Given the description of an element on the screen output the (x, y) to click on. 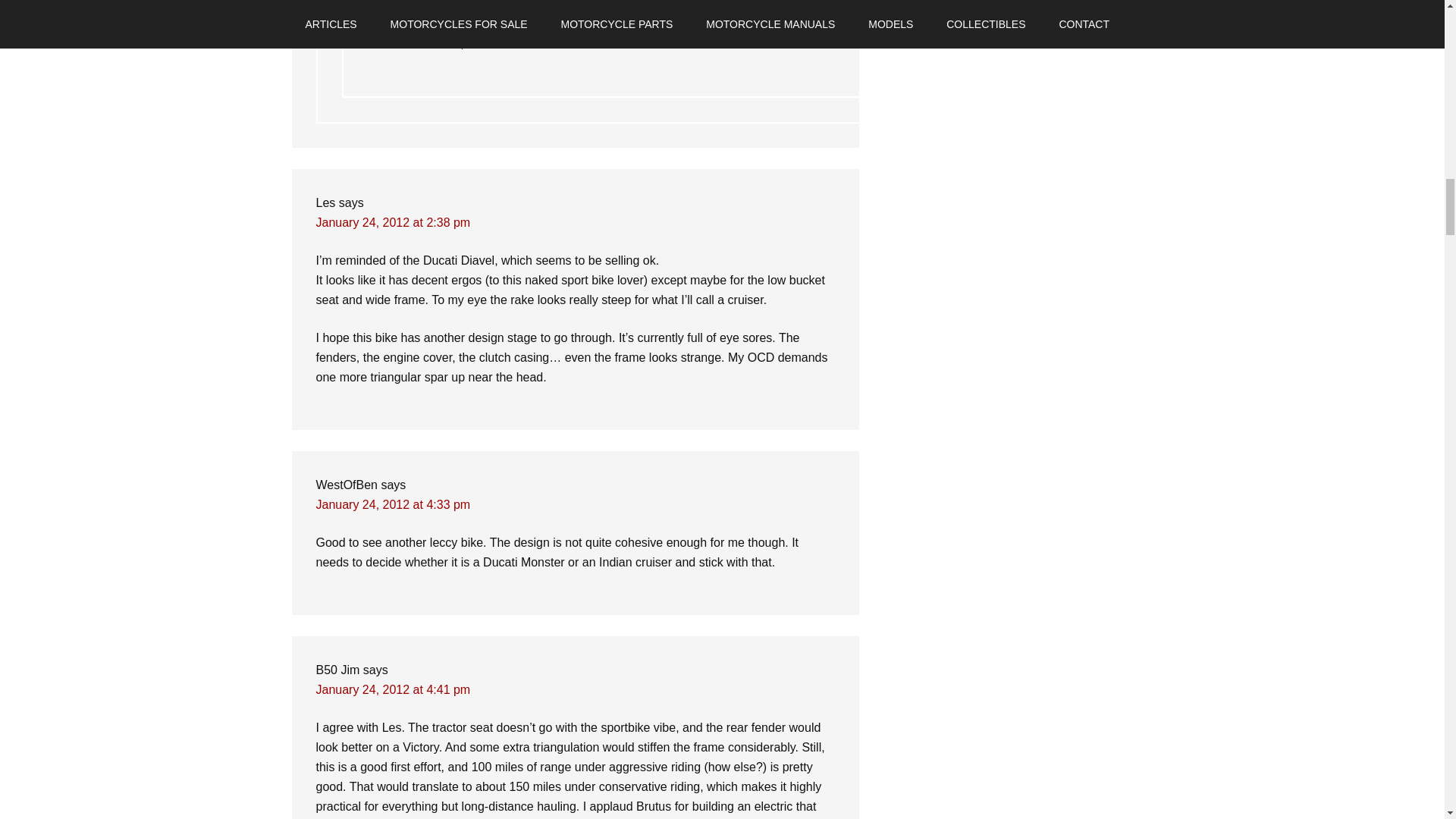
January 24, 2012 at 2:38 pm (392, 222)
January 24, 2012 at 6:16 pm (443, 6)
January 24, 2012 at 4:41 pm (392, 689)
January 24, 2012 at 4:33 pm (392, 504)
